Given the description of an element on the screen output the (x, y) to click on. 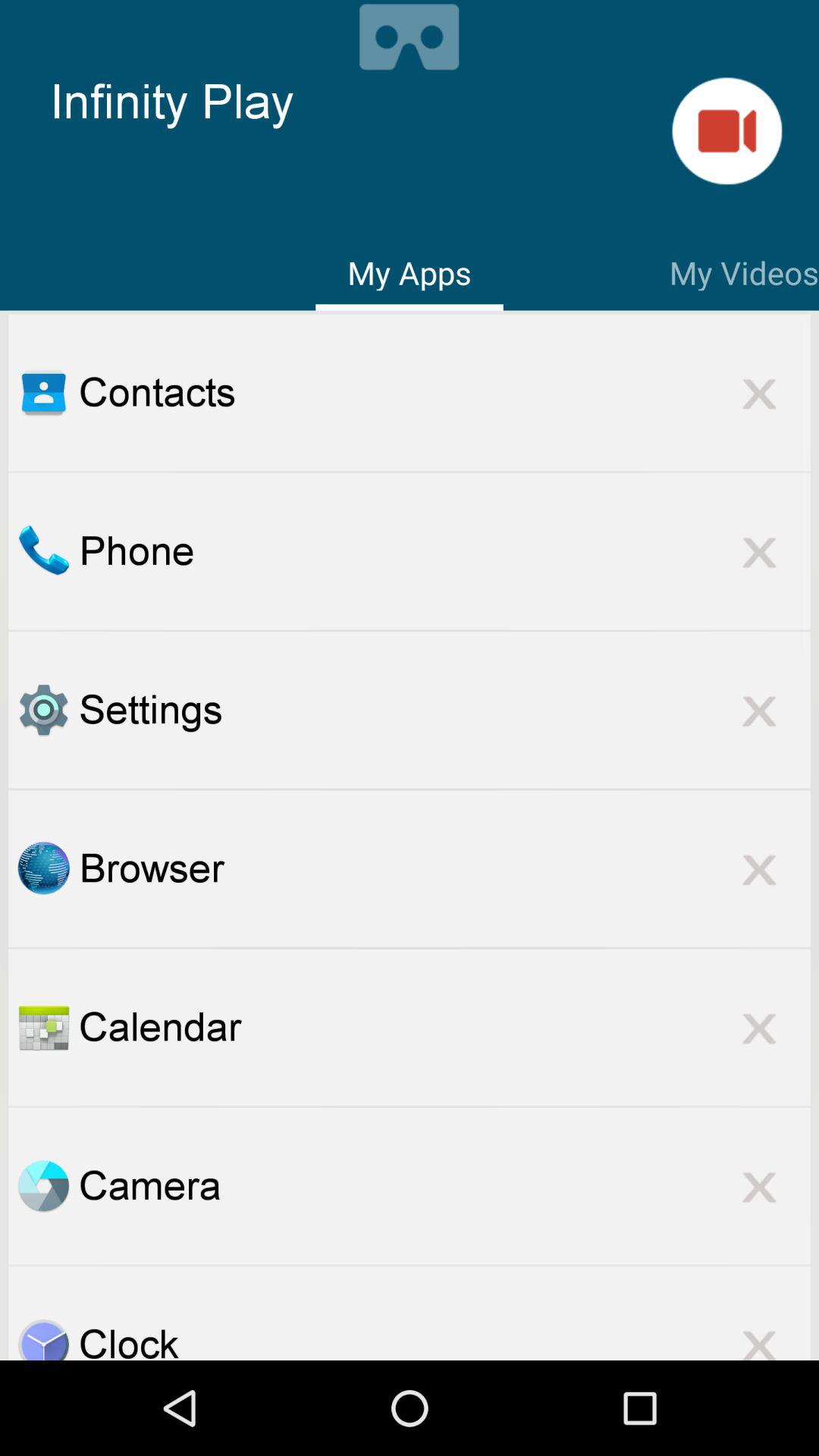
press item below the my apps icon (444, 392)
